Given the description of an element on the screen output the (x, y) to click on. 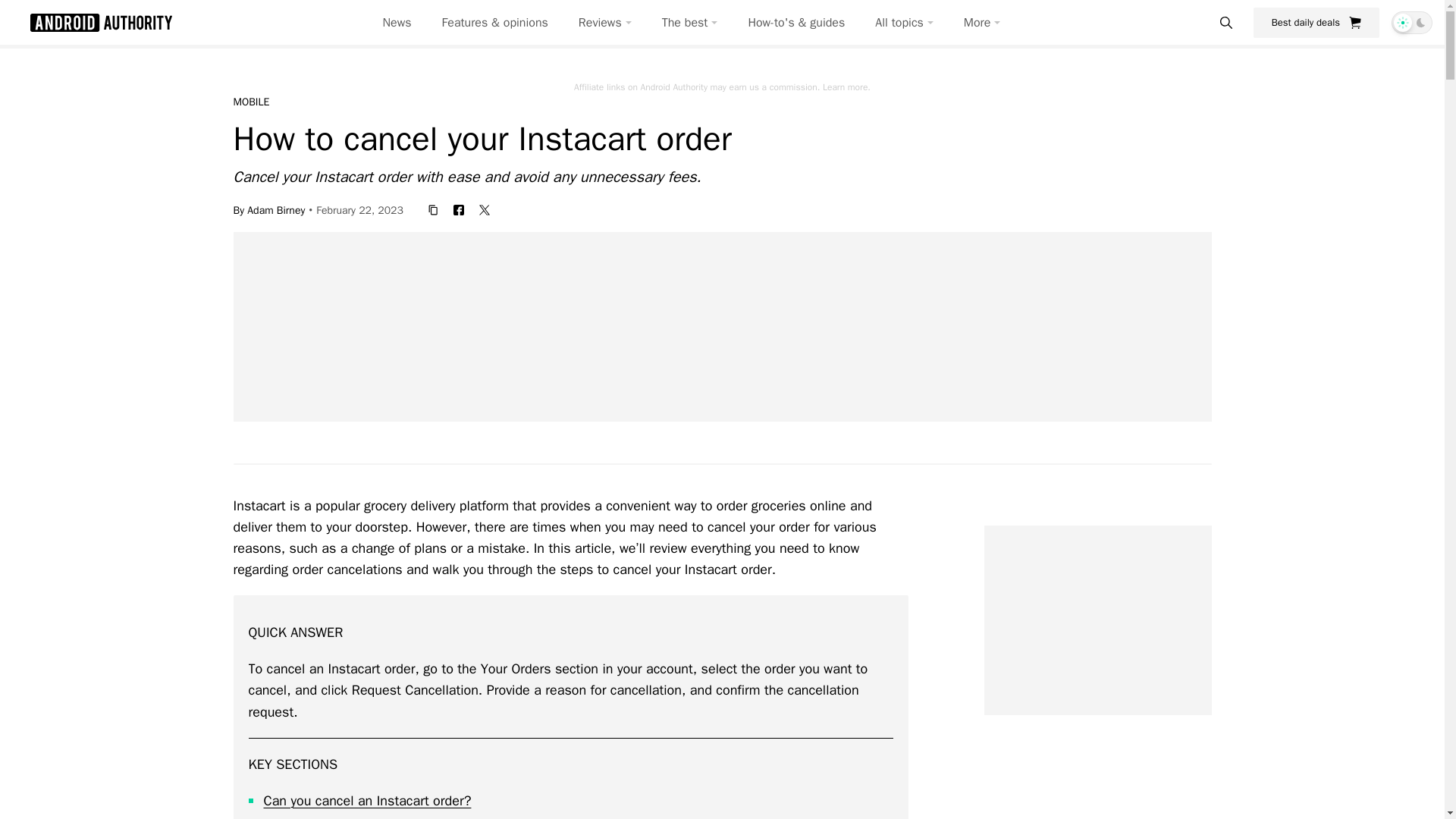
Adam Birney (275, 209)
The best (689, 22)
Can you cancel an Instacart order? (367, 800)
Reviews (604, 22)
News (397, 22)
Learn more. (846, 86)
facebook (458, 209)
Best daily deals (1315, 22)
twitter (484, 209)
More (981, 22)
MOBILE (250, 101)
All topics (904, 22)
